Given the description of an element on the screen output the (x, y) to click on. 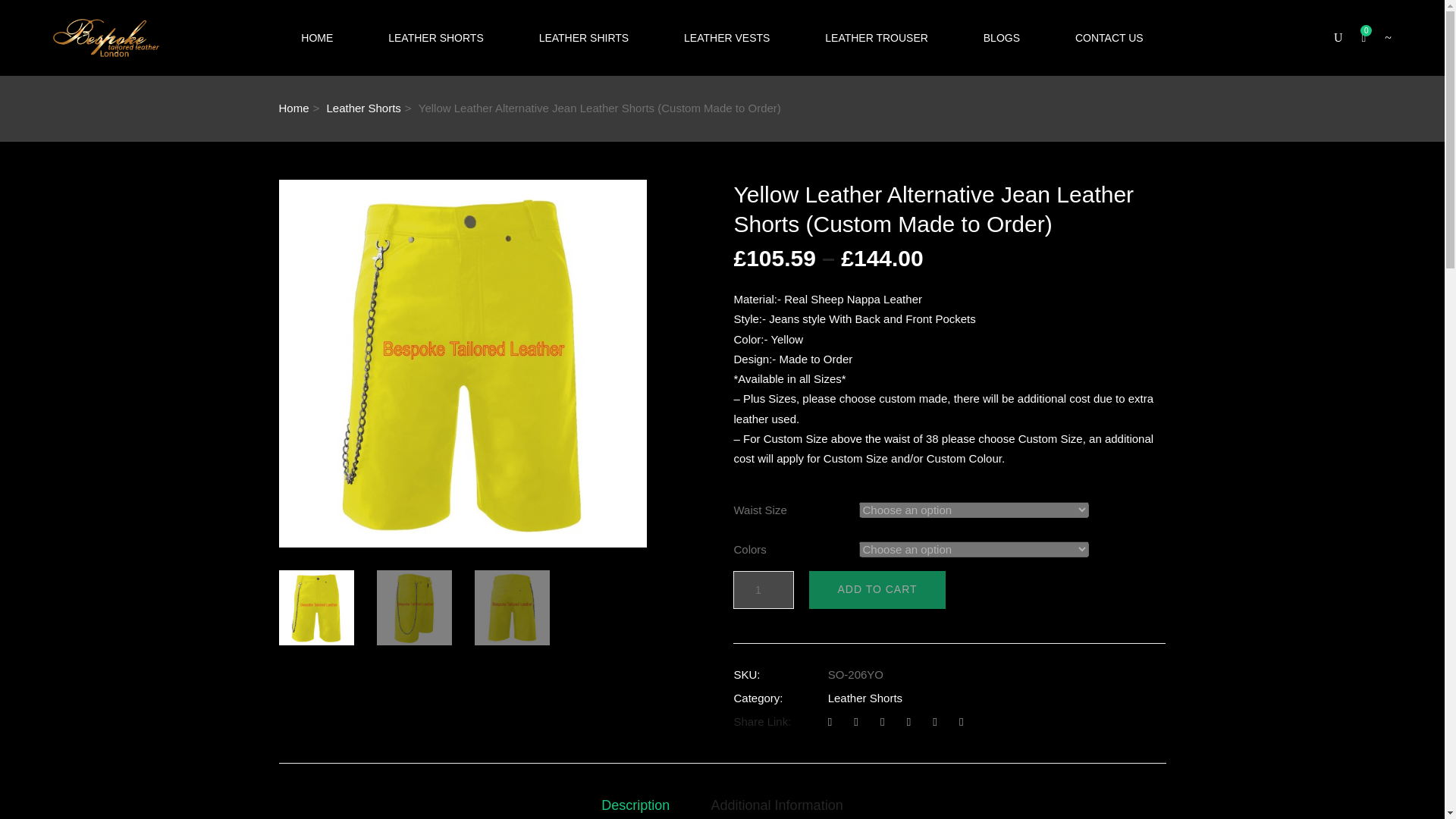
Leather Shorts (363, 107)
LEATHER TROUSER (877, 37)
Home (293, 107)
ADD TO CART (876, 589)
LEATHER SHIRTS (583, 37)
HOME (316, 37)
LEATHER SHORTS (435, 37)
1 (763, 589)
LEATHER VESTS (726, 37)
BLOGS (1001, 37)
Leather Shorts (865, 697)
sign in (1270, 308)
CONTACT US (1109, 37)
